Given the description of an element on the screen output the (x, y) to click on. 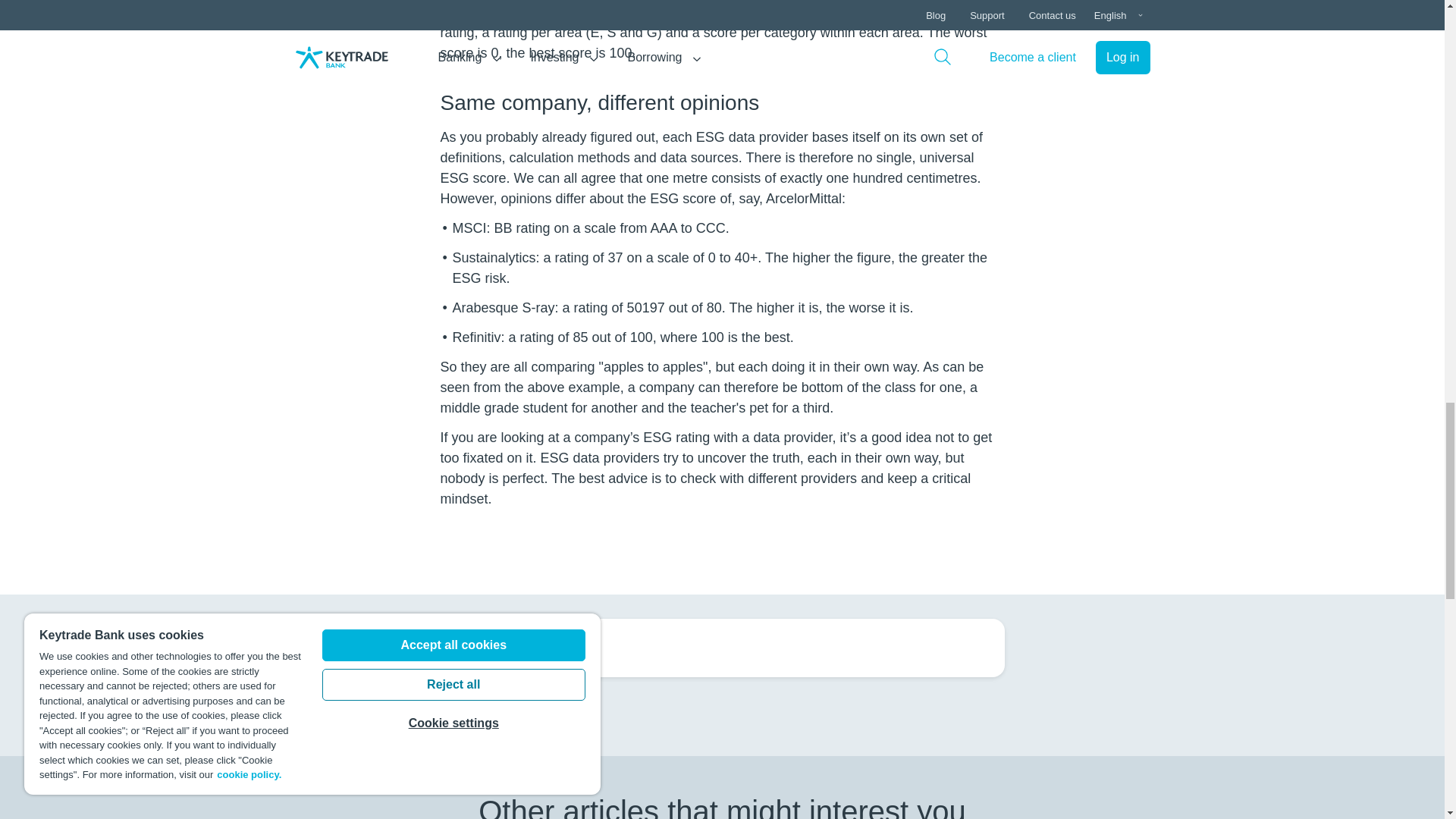
ESG ratings for more than 10,000 companies (699, 9)
Back to blog (502, 647)
